Given the description of an element on the screen output the (x, y) to click on. 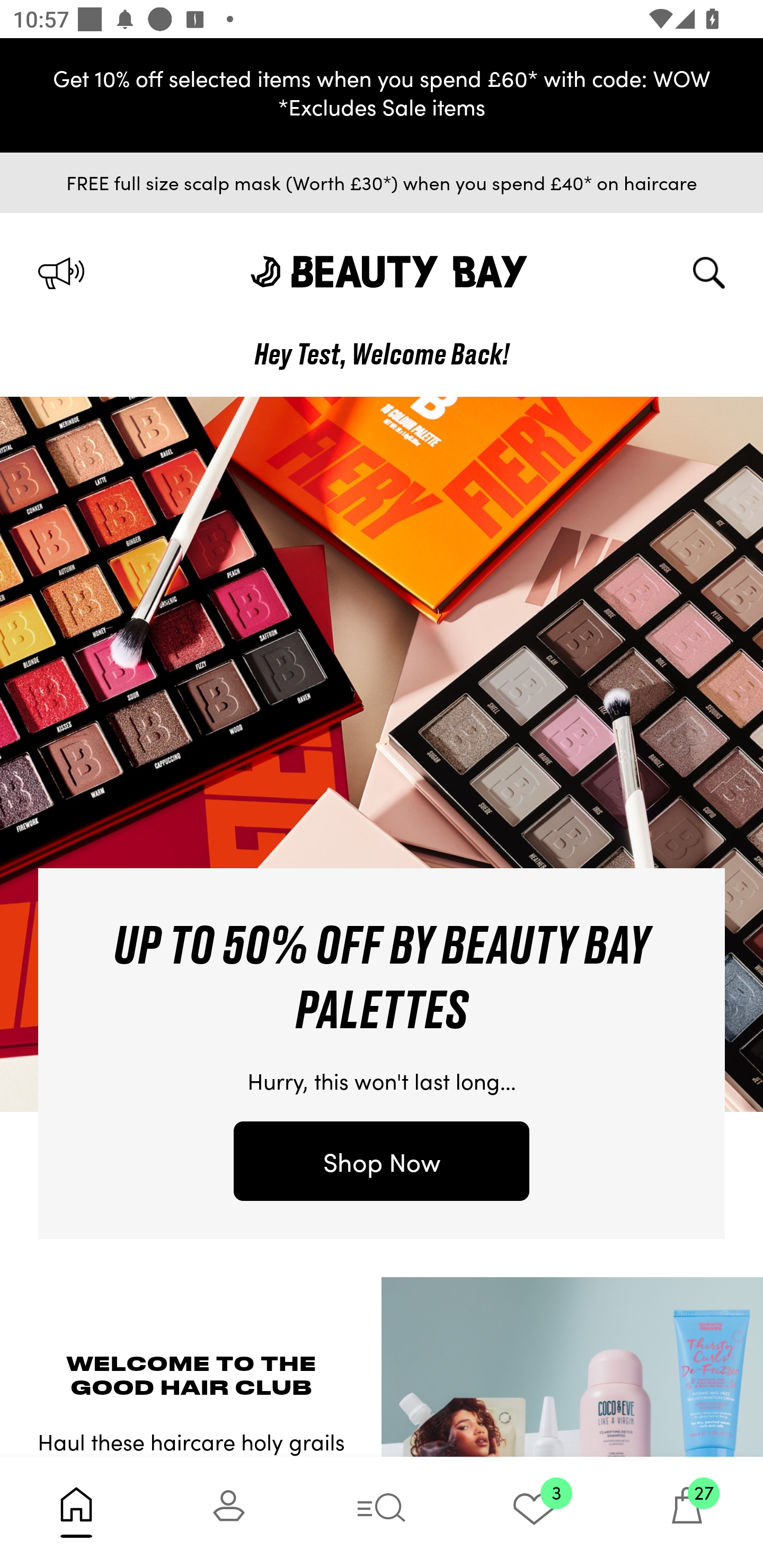
3 (533, 1512)
27 (686, 1512)
